Given the description of an element on the screen output the (x, y) to click on. 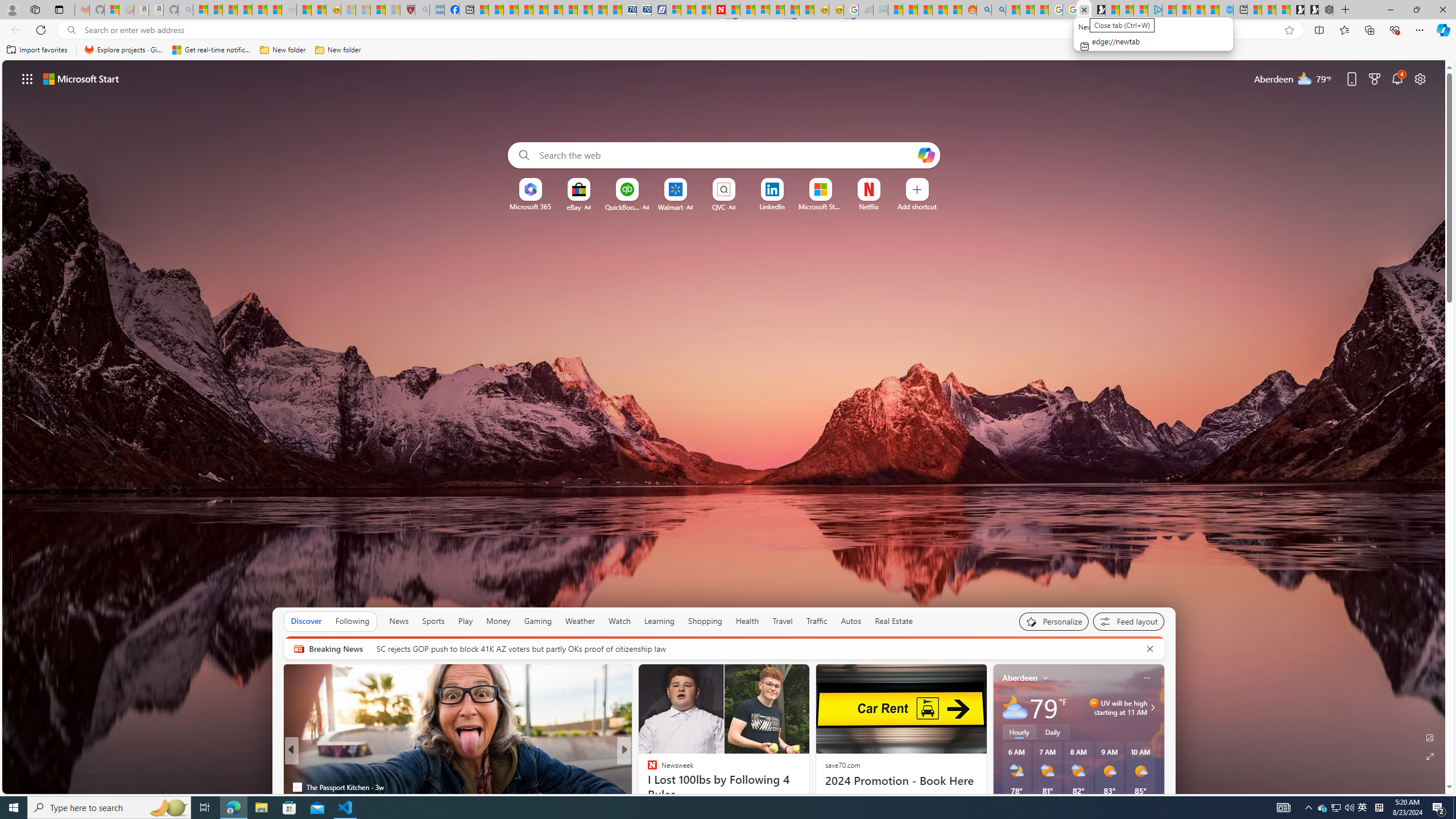
DITOGAMES AG Imprint - Sleeping (879, 9)
Combat Siege - Sleeping (288, 9)
Shopping (705, 621)
News (398, 621)
Microsoft start (81, 78)
New folder (337, 49)
